Given the description of an element on the screen output the (x, y) to click on. 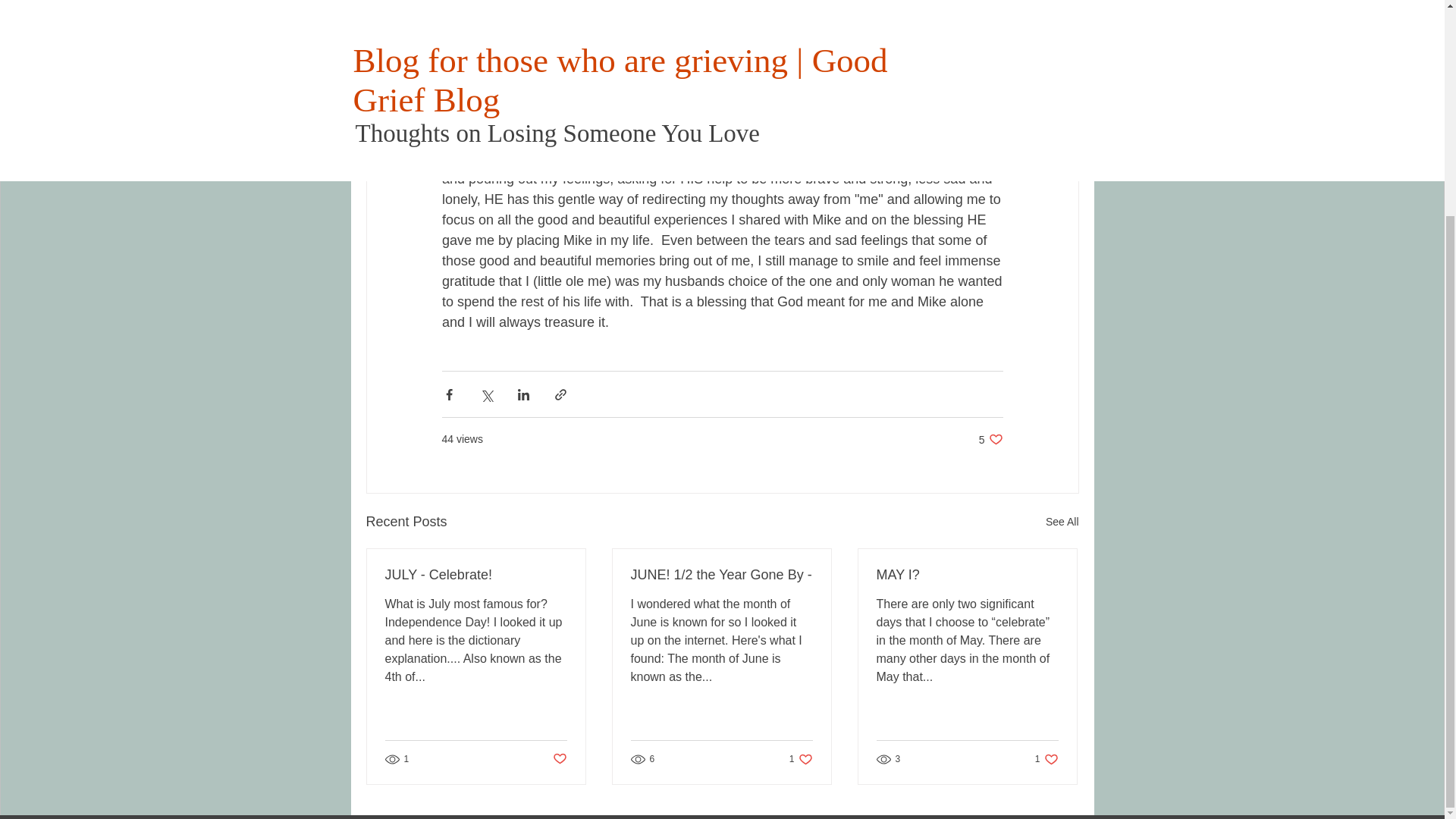
JULY - Celebrate! (800, 759)
Grace Rice (476, 575)
1 min read (496, 42)
See All (657, 42)
MAY I? (1046, 759)
Post not marked as liked (990, 439)
Sep 14, 2020 (1061, 522)
